Given the description of an element on the screen output the (x, y) to click on. 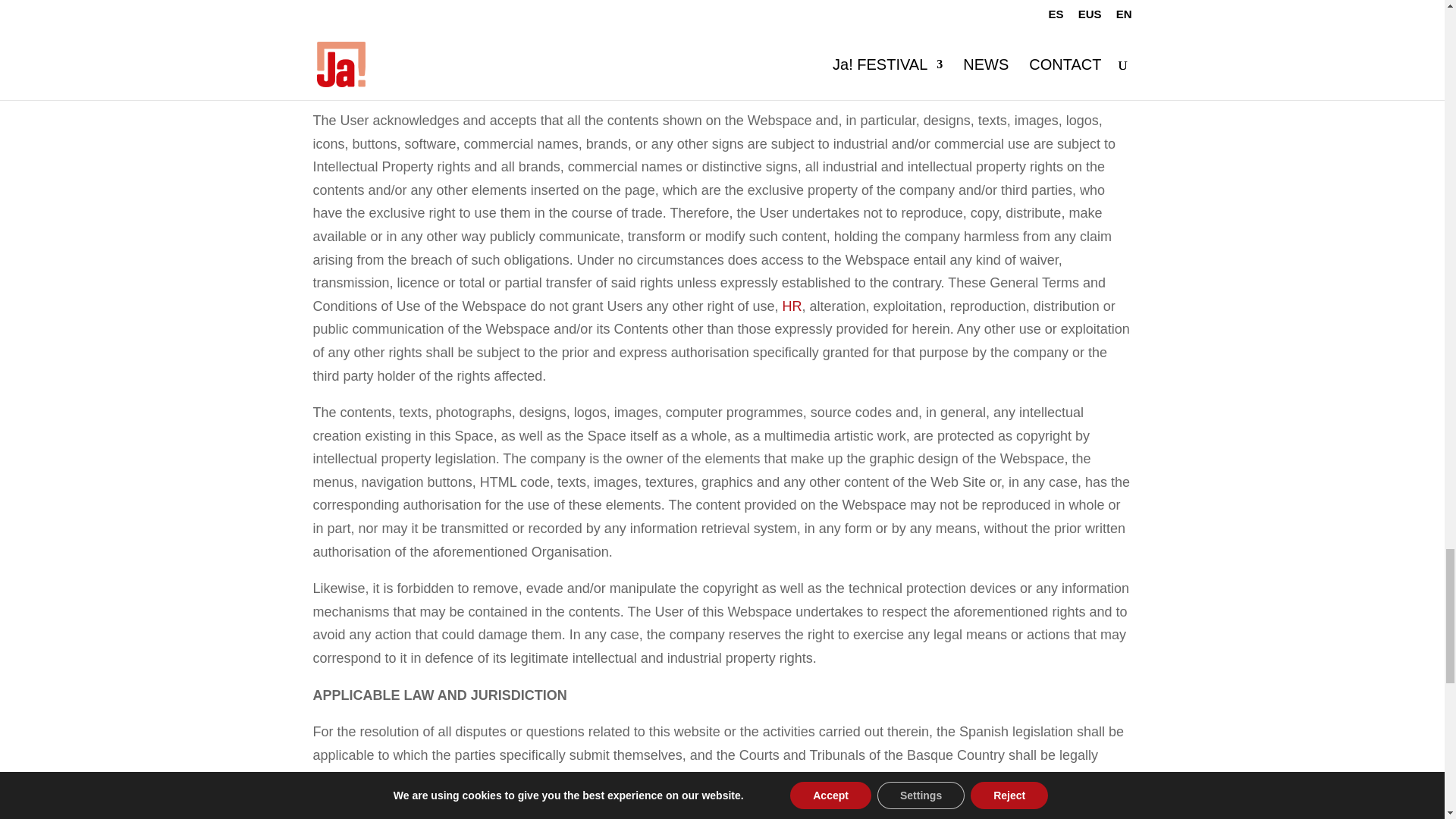
HR (792, 305)
